Given the description of an element on the screen output the (x, y) to click on. 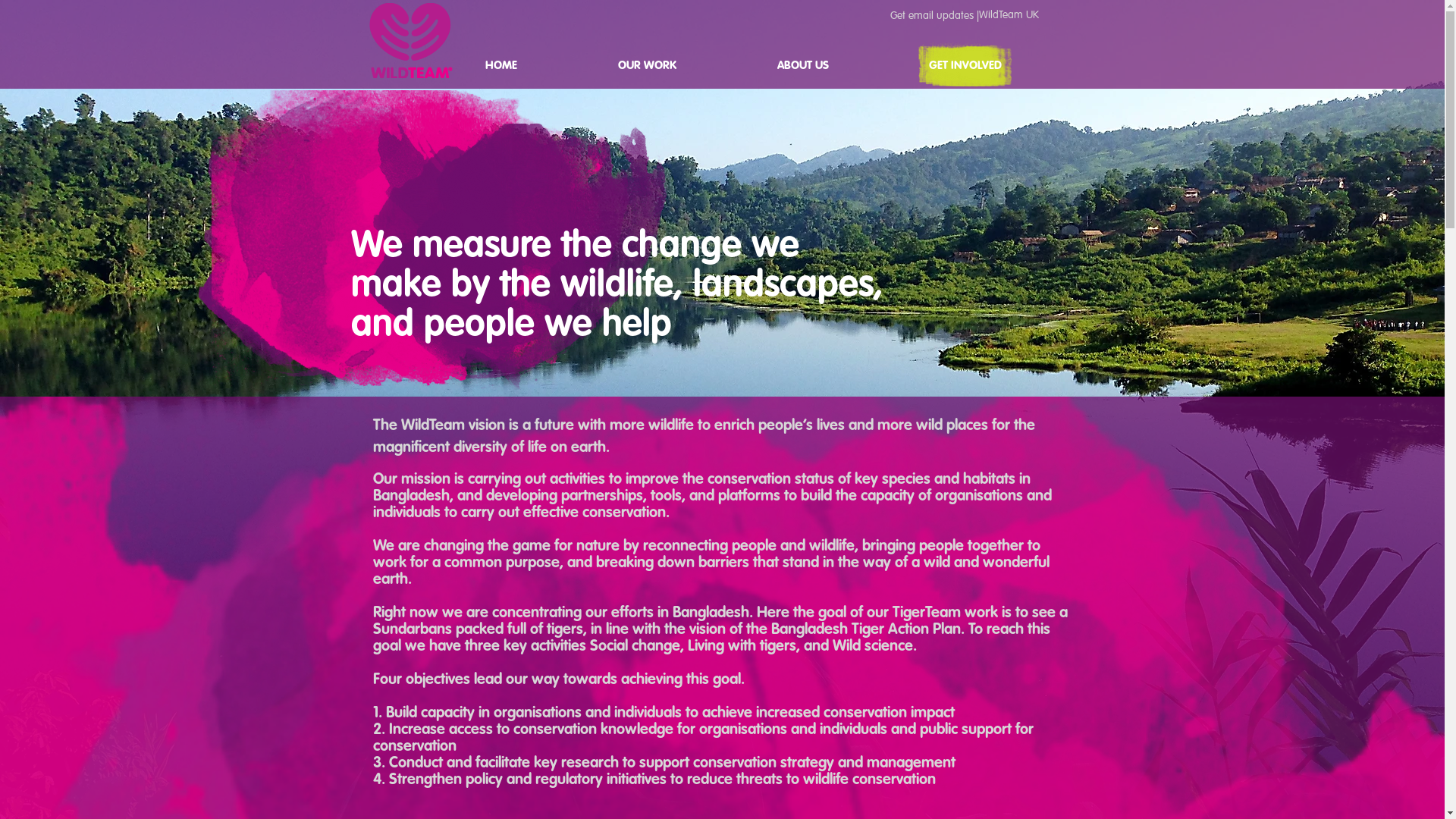
Get email updates | Element type: text (934, 16)
WildTeam UK Element type: text (1008, 15)
HOME Element type: text (539, 65)
